Given the description of an element on the screen output the (x, y) to click on. 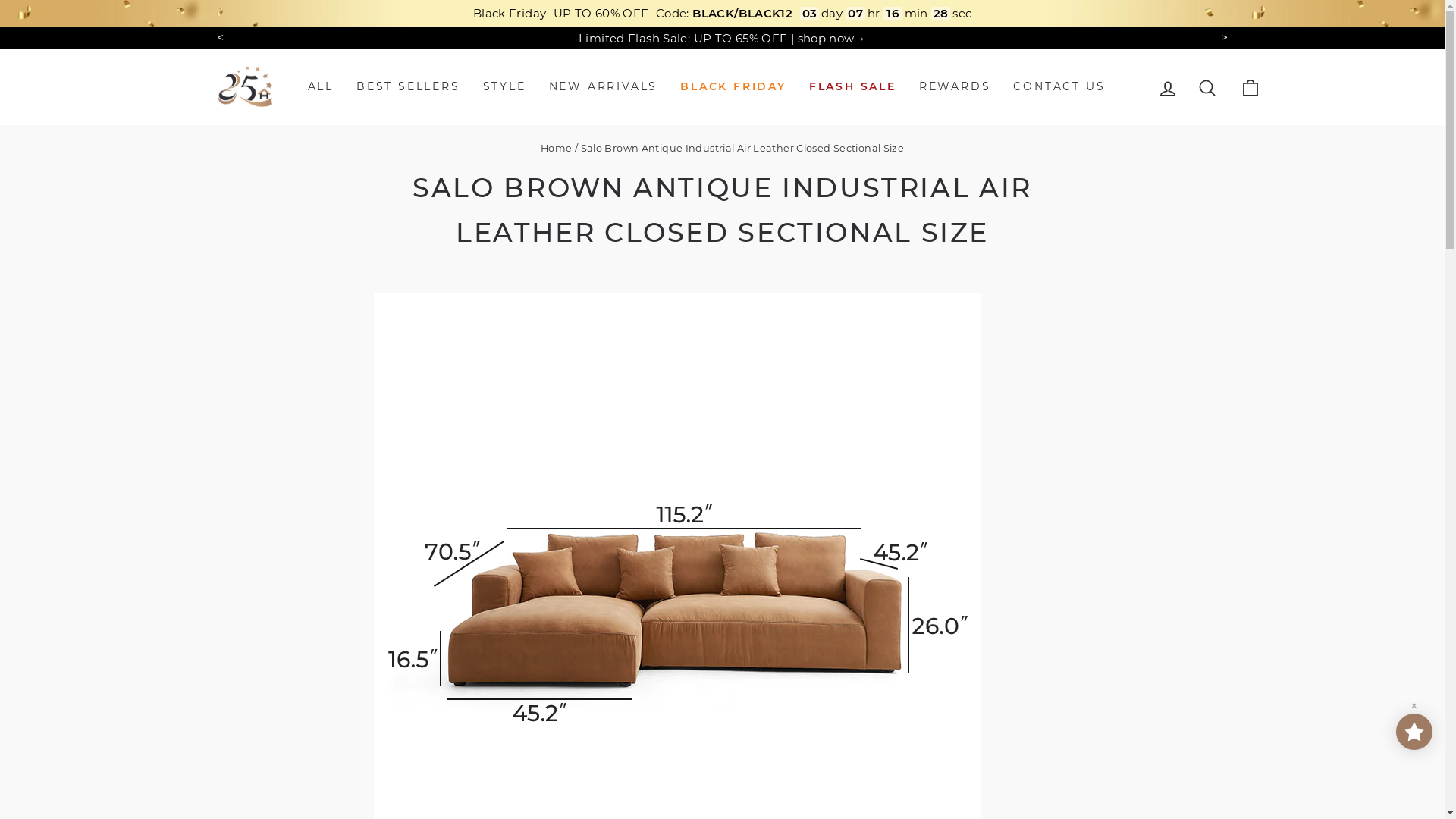
ALL Element type: text (319, 87)
NEW ARRIVALS Element type: text (603, 87)
LOG IN Element type: text (1167, 86)
CONTACT US Element type: text (1058, 87)
Skip to content Element type: text (0, 0)
CART Element type: text (1249, 86)
REWARDS Element type: text (954, 87)
Home Element type: text (556, 147)
BEST SELLERS Element type: text (408, 87)
STYLE Element type: text (504, 87)
BLACK FRIDAY Element type: text (732, 87)
FLASH SALE Element type: text (852, 87)
SEARCH Element type: text (1206, 86)
